Given the description of an element on the screen output the (x, y) to click on. 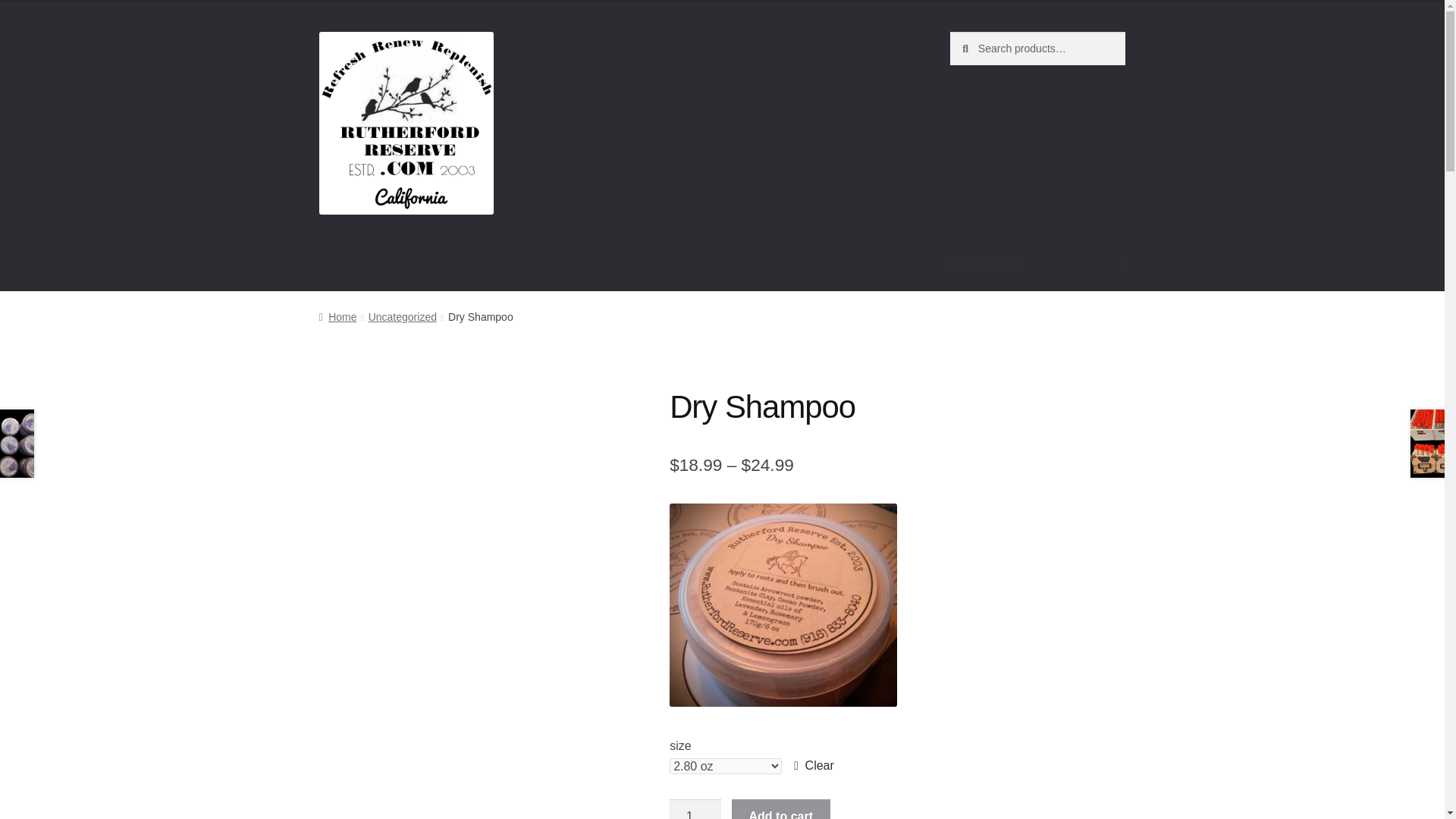
View your shopping cart (1037, 261)
Uncategorized (402, 316)
Home (337, 316)
1 (694, 809)
Add to cart (780, 809)
Clear (813, 765)
